Given the description of an element on the screen output the (x, y) to click on. 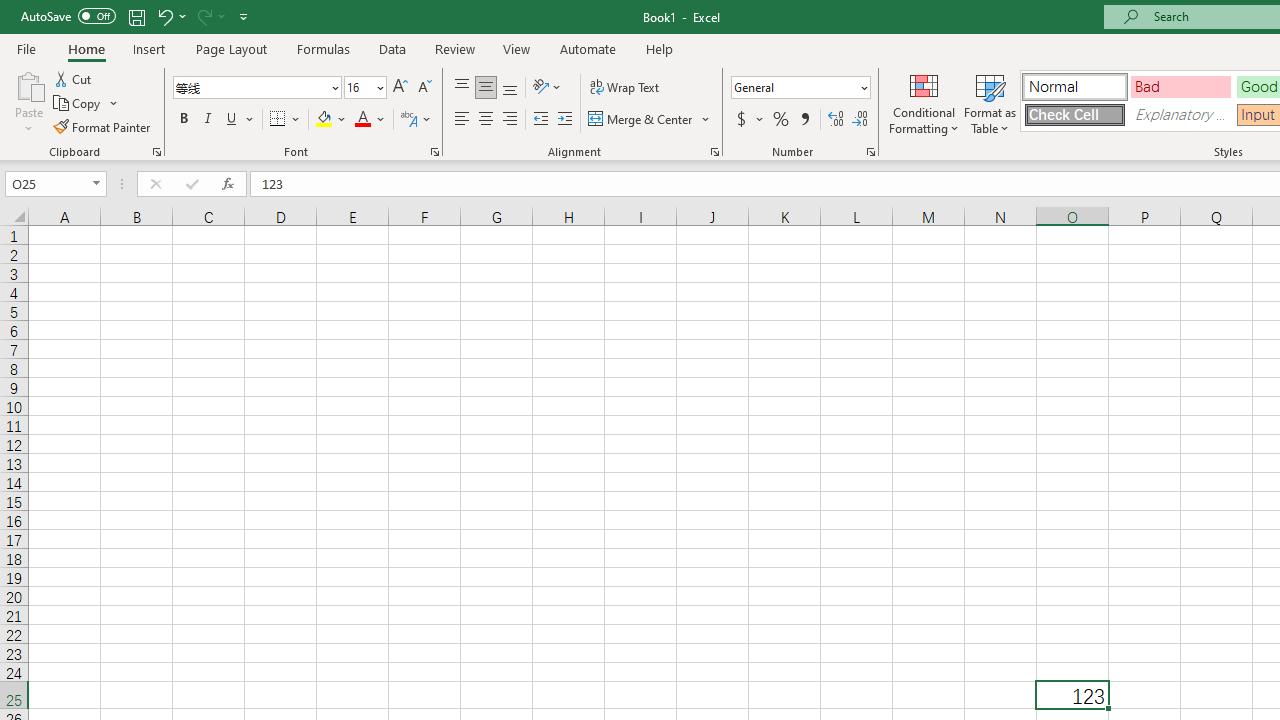
AutoSave (68, 16)
Italic (207, 119)
Cut (73, 78)
